Given the description of an element on the screen output the (x, y) to click on. 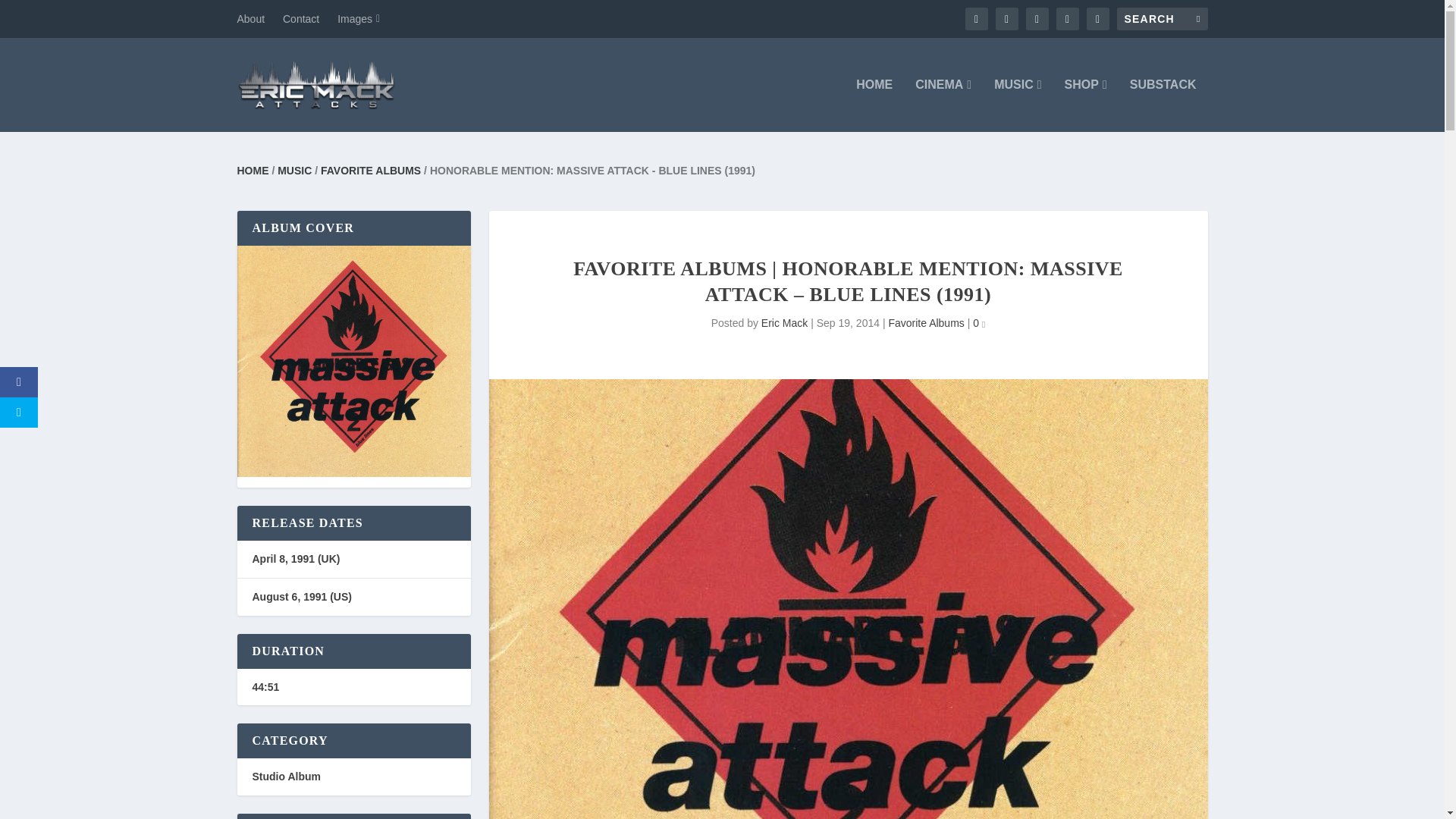
Images (358, 18)
MUSIC (1017, 104)
Posts by Eric Mack (784, 322)
SHOP (1085, 104)
HOME (874, 104)
CINEMA (943, 104)
Search for: (1161, 18)
About (249, 18)
Contact (300, 18)
SUBSTACK (1162, 104)
comment count (983, 324)
